Given the description of an element on the screen output the (x, y) to click on. 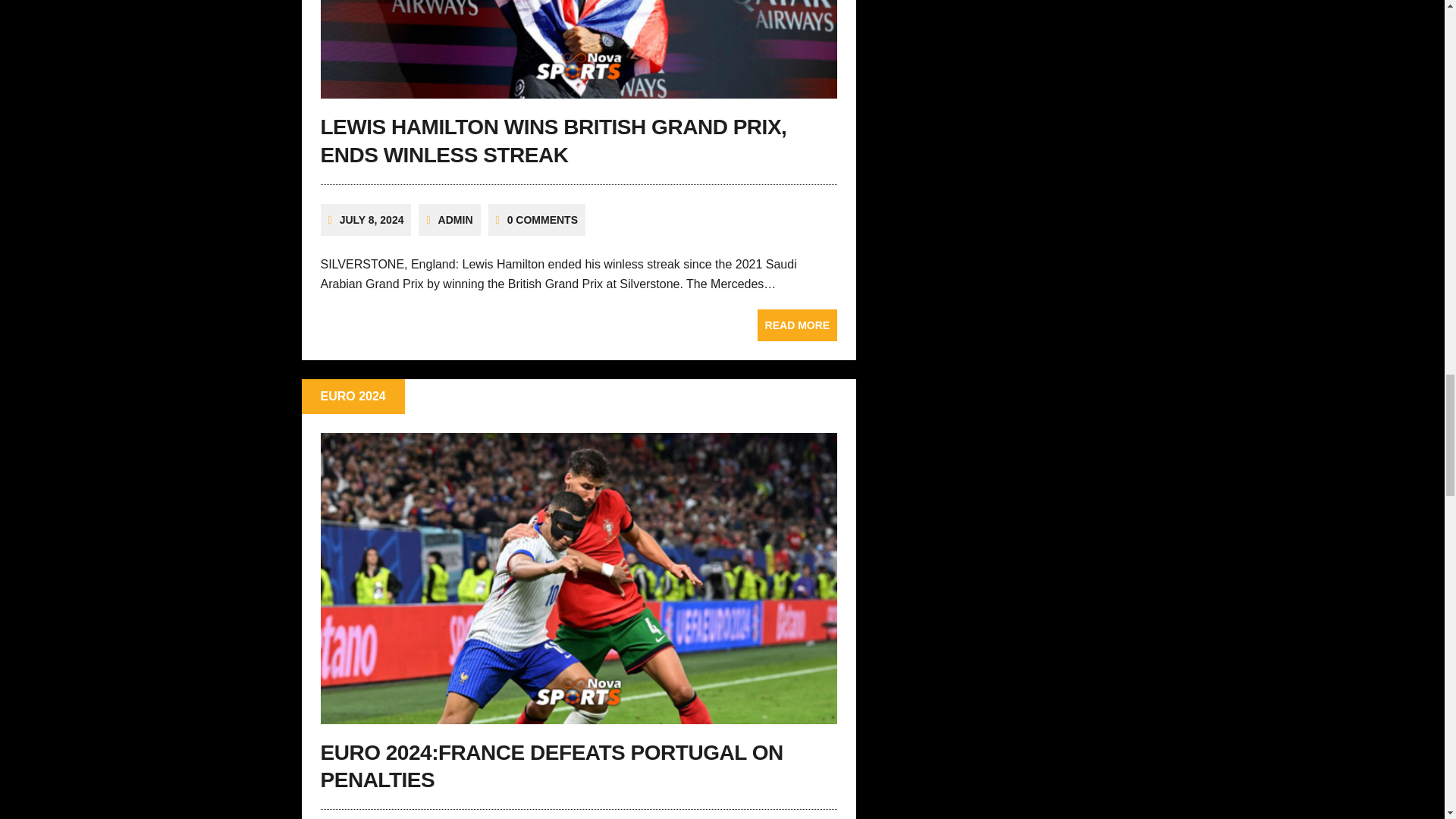
EURO 2024:FRANCE DEFEATS PORTUGAL ON PENALTIES (551, 766)
READ MORE (797, 325)
JULY 8, 2024 (371, 219)
LEWIS HAMILTON WINS BRITISH GRAND PRIX, ENDS WINLESS STREAK (553, 140)
ADMIN (455, 219)
